Given the description of an element on the screen output the (x, y) to click on. 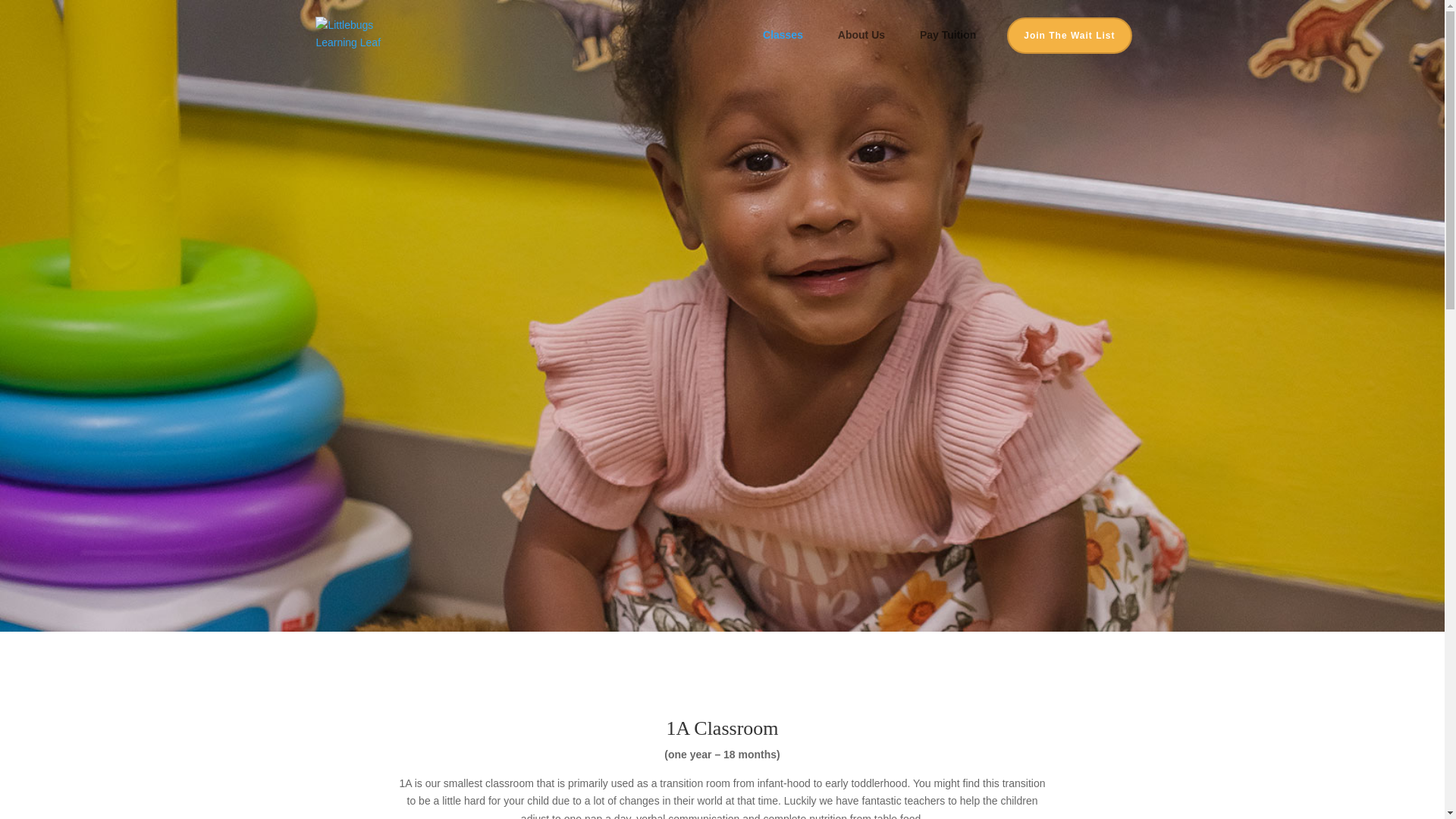
About Us (868, 47)
Classes (790, 47)
Join The Wait List (1069, 35)
Pay Tuition (947, 47)
